Given the description of an element on the screen output the (x, y) to click on. 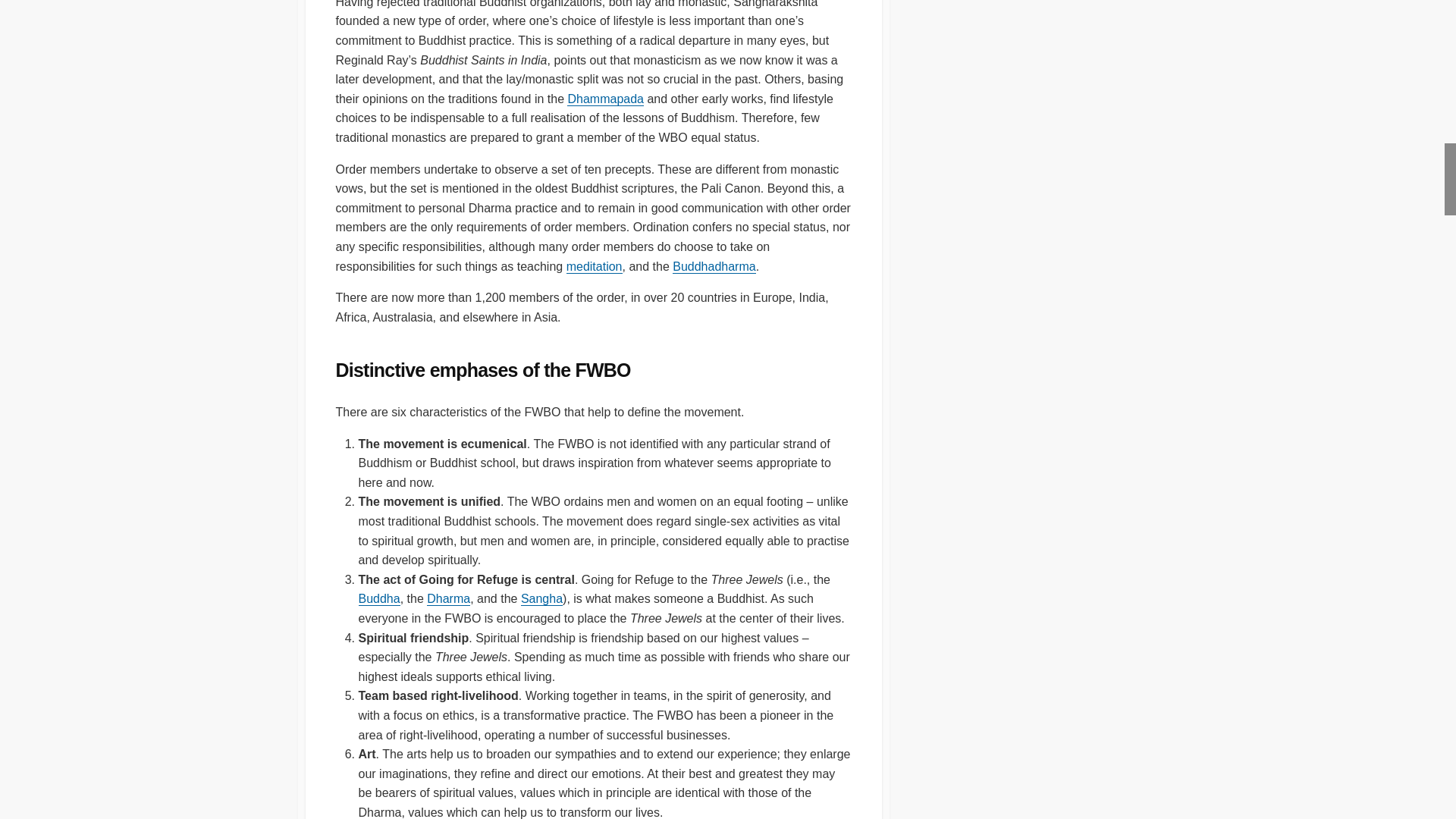
Dhammapada (605, 98)
Dhammapada (605, 98)
Buddhadharma (713, 266)
Buddha (378, 598)
Buddha (378, 598)
Sangha (541, 598)
Dharma (713, 266)
Dharma (448, 598)
meditation (594, 266)
Meditation (594, 266)
Sangha (541, 598)
Dharma (448, 598)
